Given the description of an element on the screen output the (x, y) to click on. 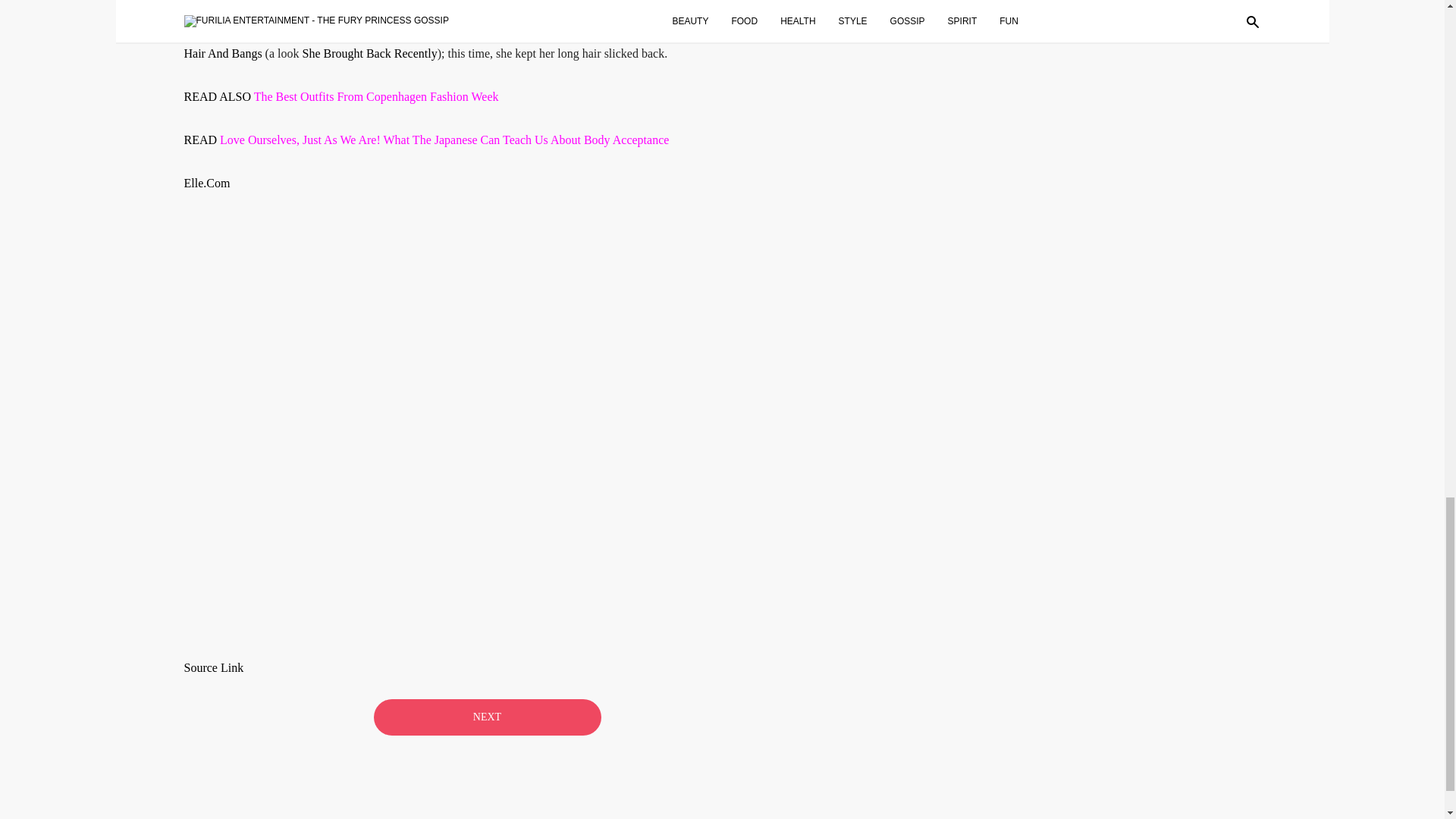
READ  (201, 139)
Long Hair And Bangs (478, 40)
NEXT (485, 717)
Source Link (213, 667)
Elle.Com (206, 182)
READ ALSO  (218, 96)
She Brought Back Recently (368, 52)
